Given the description of an element on the screen output the (x, y) to click on. 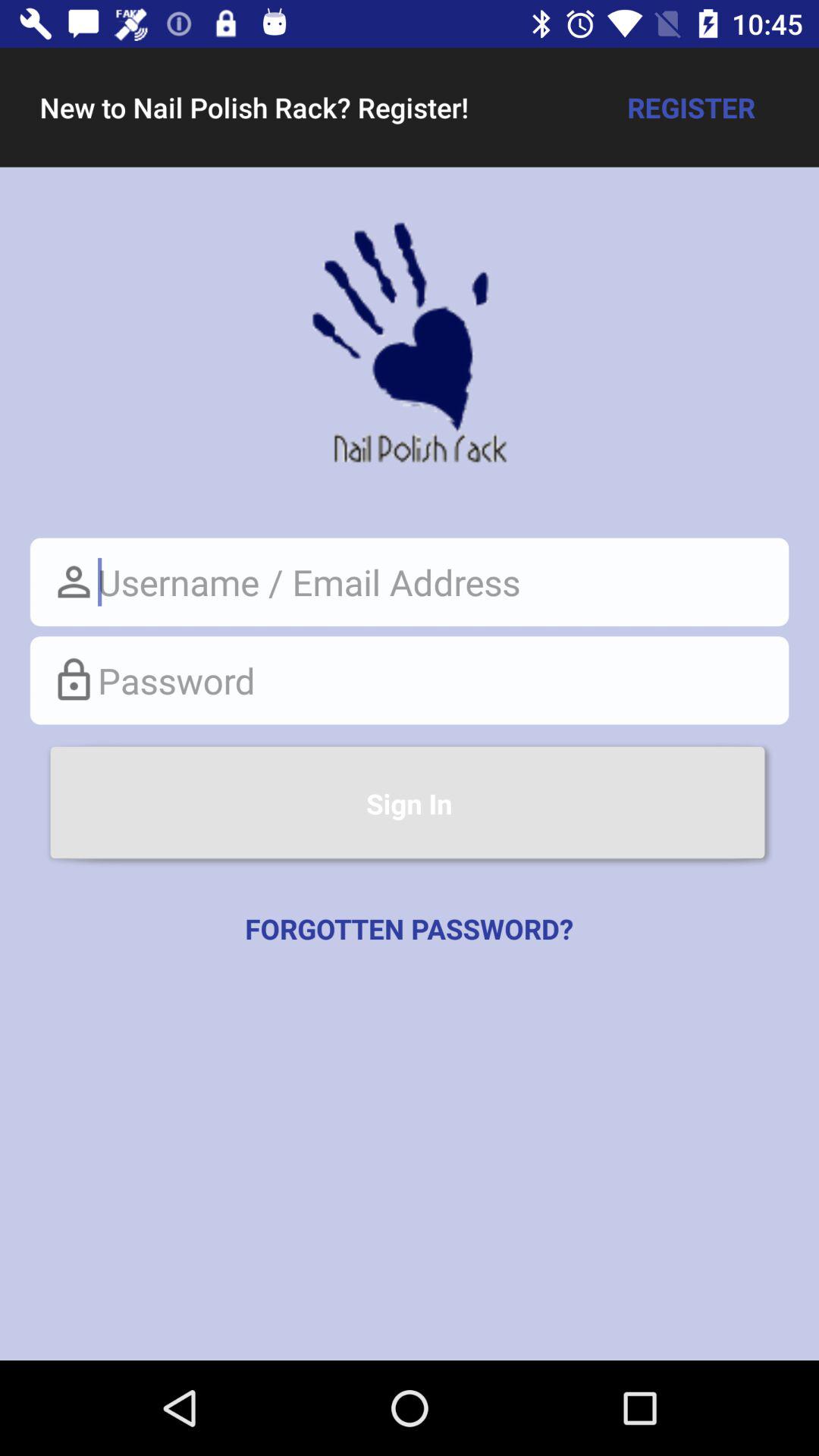
password field (409, 680)
